Given the description of an element on the screen output the (x, y) to click on. 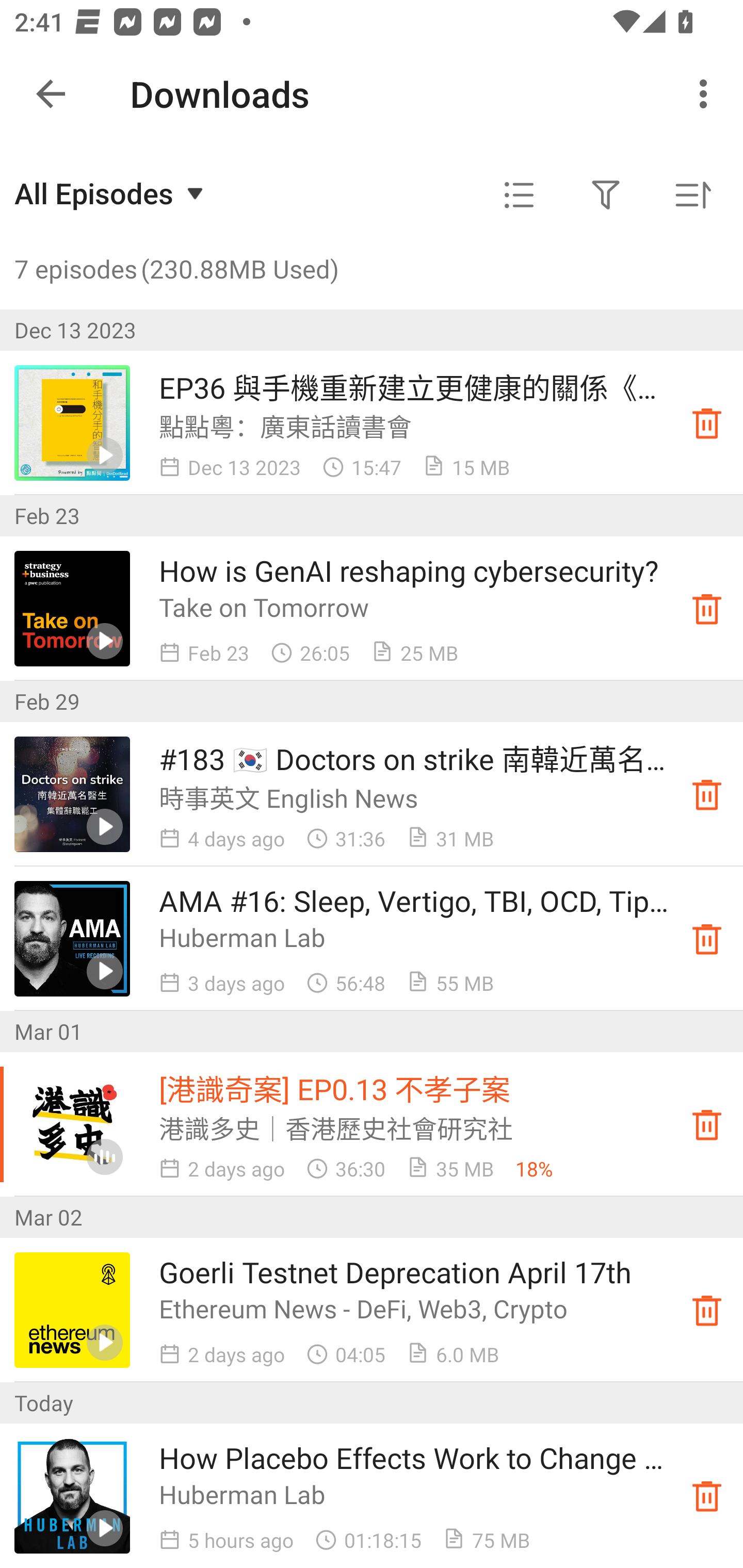
Navigate up (50, 93)
More options (706, 93)
All Episodes (111, 192)
 (518, 195)
 (605, 195)
 Sorted by oldest first (692, 195)
Downloaded (706, 423)
Downloaded (706, 608)
Downloaded (706, 794)
Downloaded (706, 938)
Downloaded (706, 1124)
Downloaded (706, 1309)
Downloaded (706, 1495)
